Given the description of an element on the screen output the (x, y) to click on. 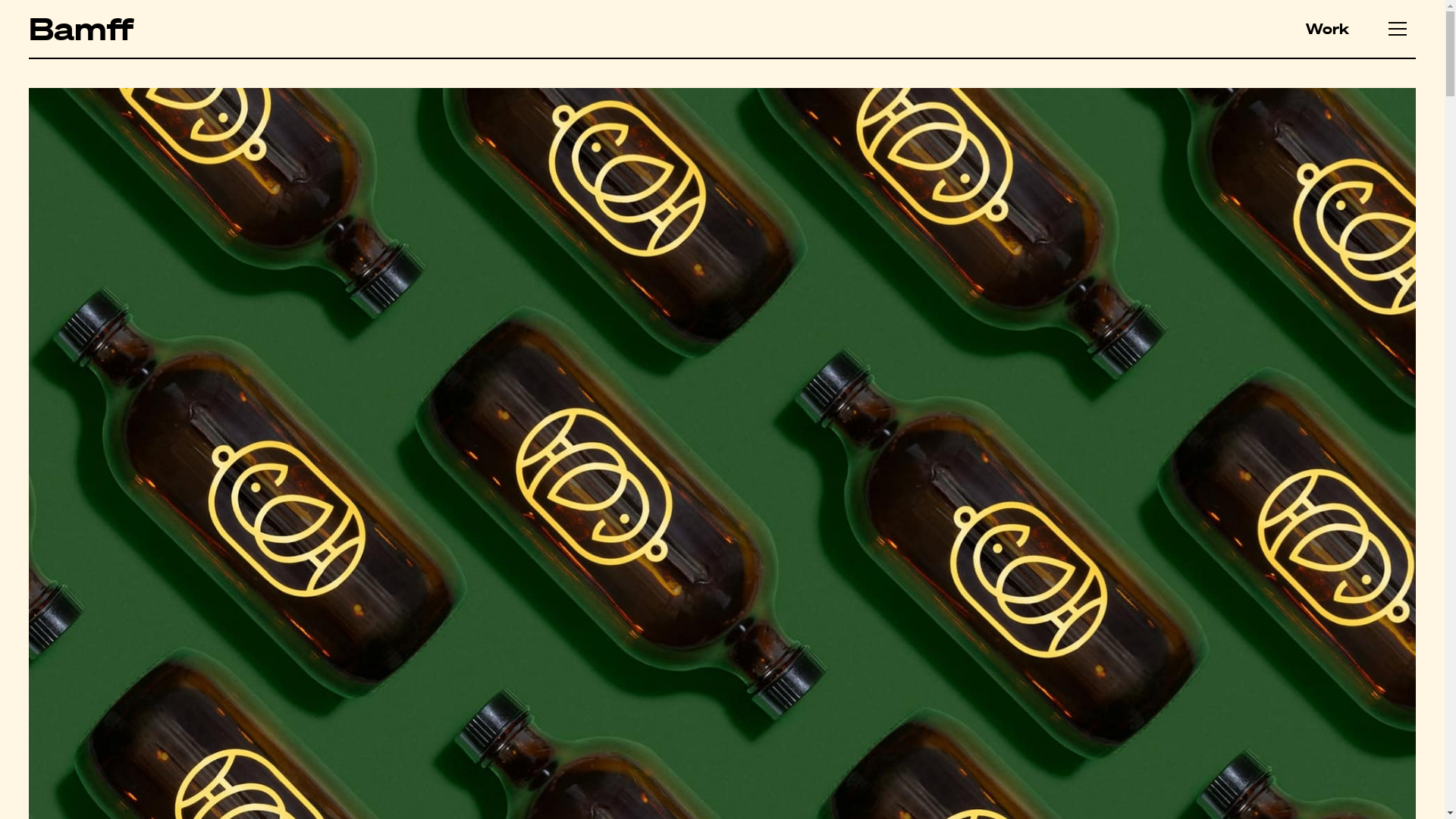
Work Element type: text (1327, 28)
Bamff Element type: text (80, 28)
